Given the description of an element on the screen output the (x, y) to click on. 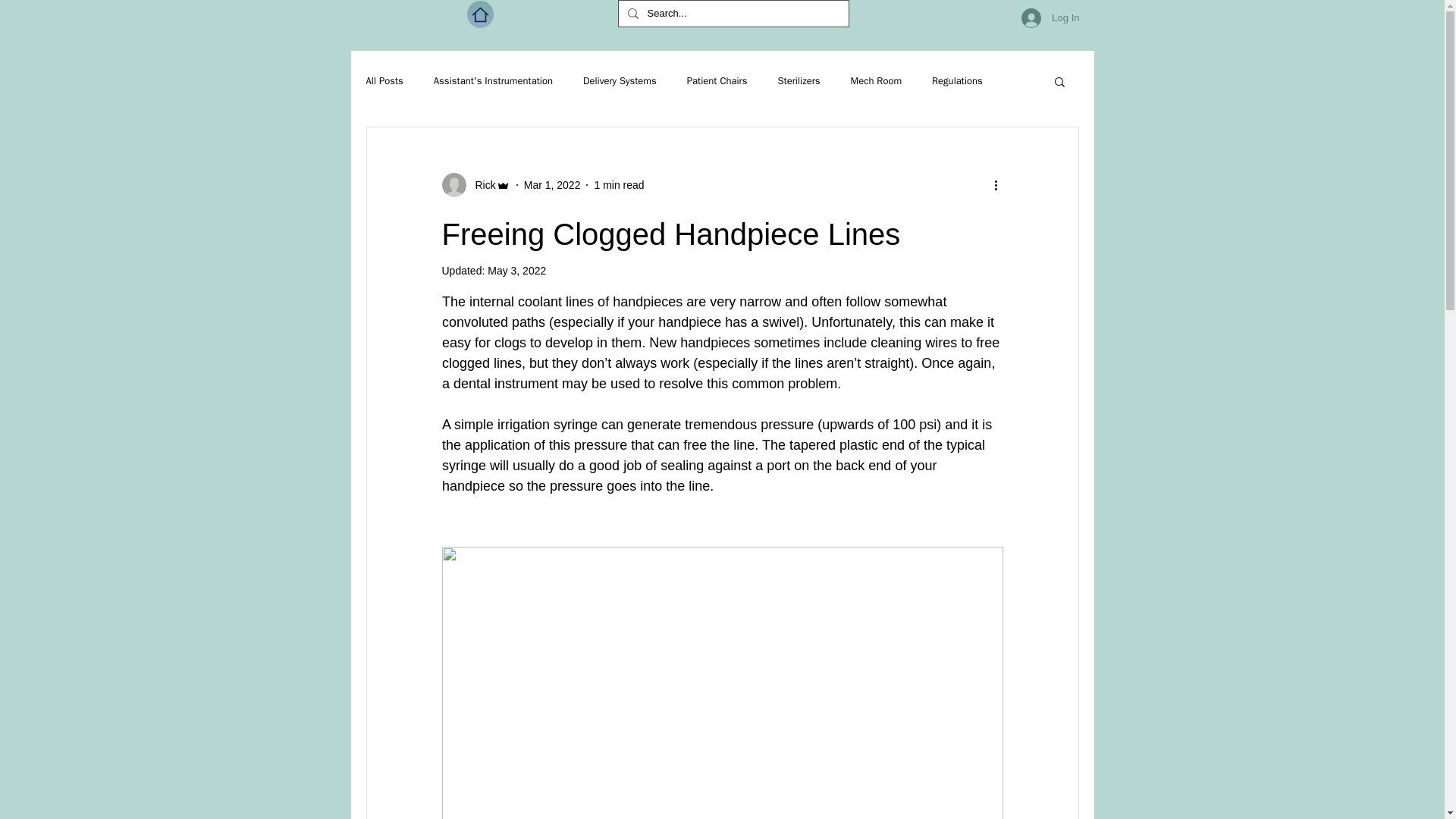
Sterilizers (798, 80)
All Posts (384, 80)
Log In (1049, 18)
Mech Room (876, 80)
Assistant's Instrumentation (493, 80)
Rick (475, 184)
Rick (480, 185)
May 3, 2022 (516, 270)
Mar 1, 2022 (552, 184)
Regulations (956, 80)
